Given the description of an element on the screen output the (x, y) to click on. 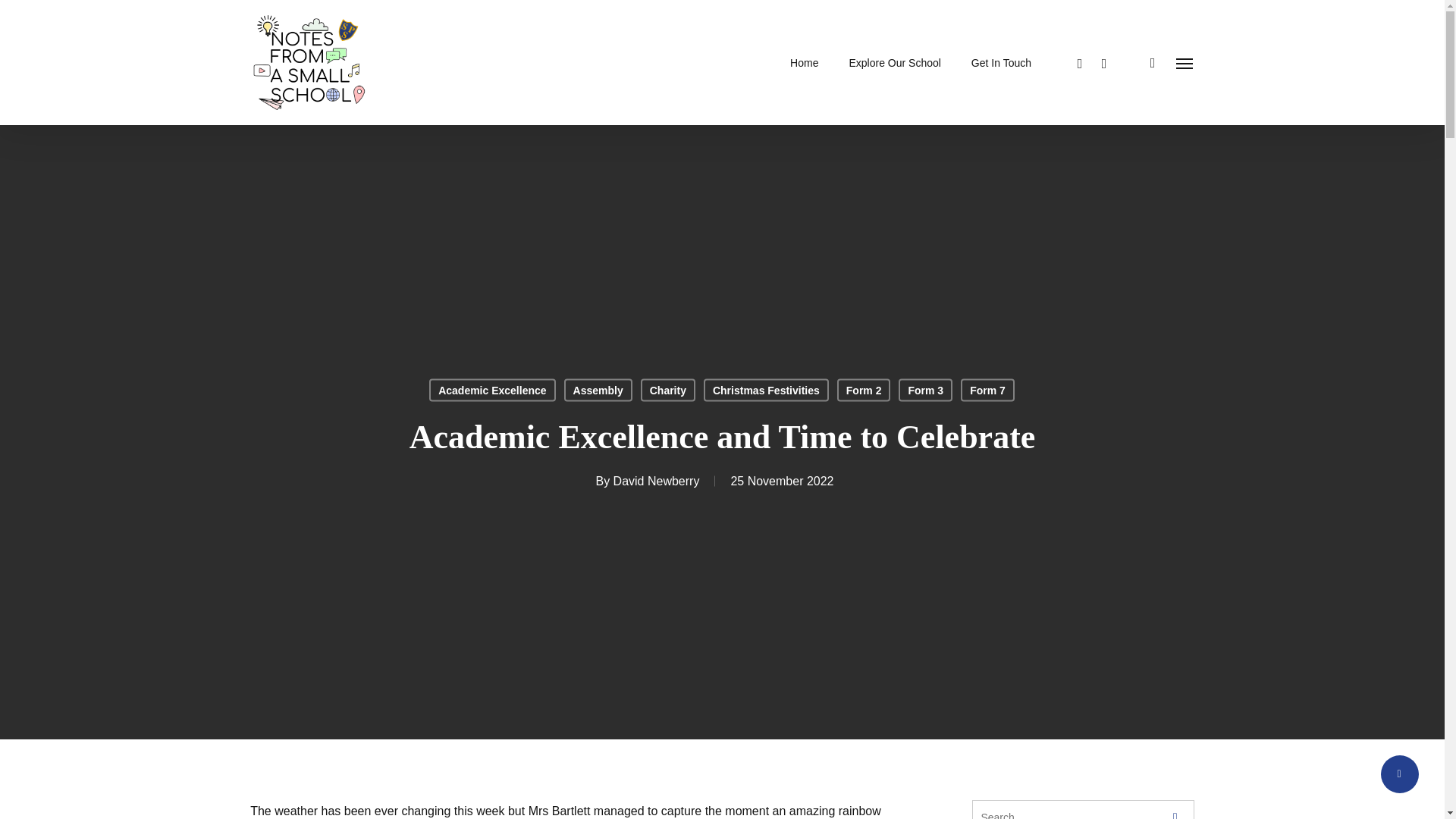
David Newberry (656, 481)
Form 7 (987, 390)
Assembly (597, 390)
Posts by David Newberry (656, 481)
Explore Our School (894, 61)
Christmas Festivities (765, 390)
facebook (1079, 62)
Charity (667, 390)
search (1151, 61)
Home (804, 61)
